Given the description of an element on the screen output the (x, y) to click on. 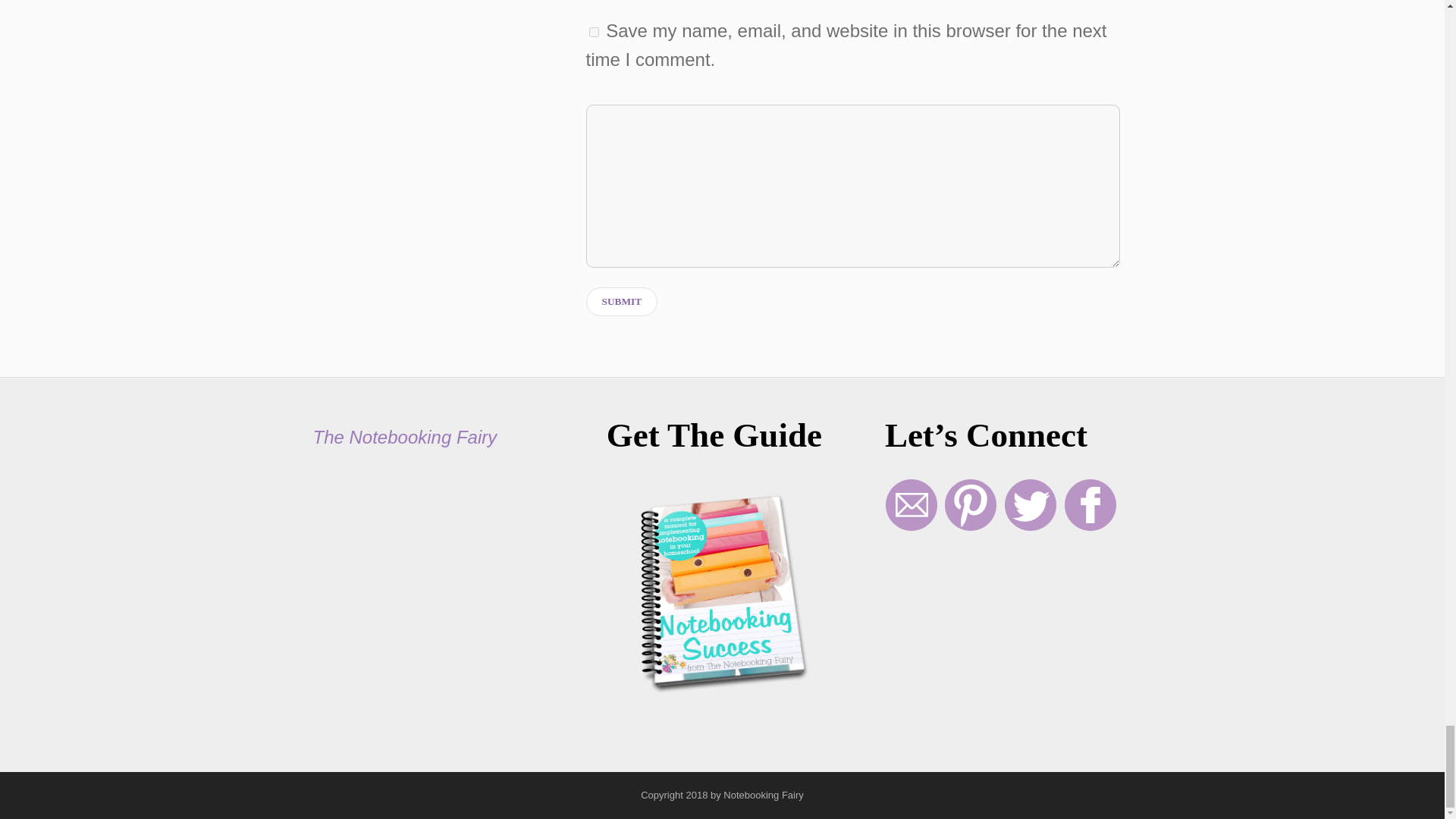
yes (593, 31)
SUBMIT (622, 301)
follow the Fairy's notebooking board at Pinterest (970, 525)
email Jimmie, the Notebooking Fairy (911, 525)
follow Jimmie on Twitter (1030, 525)
